Given the description of an element on the screen output the (x, y) to click on. 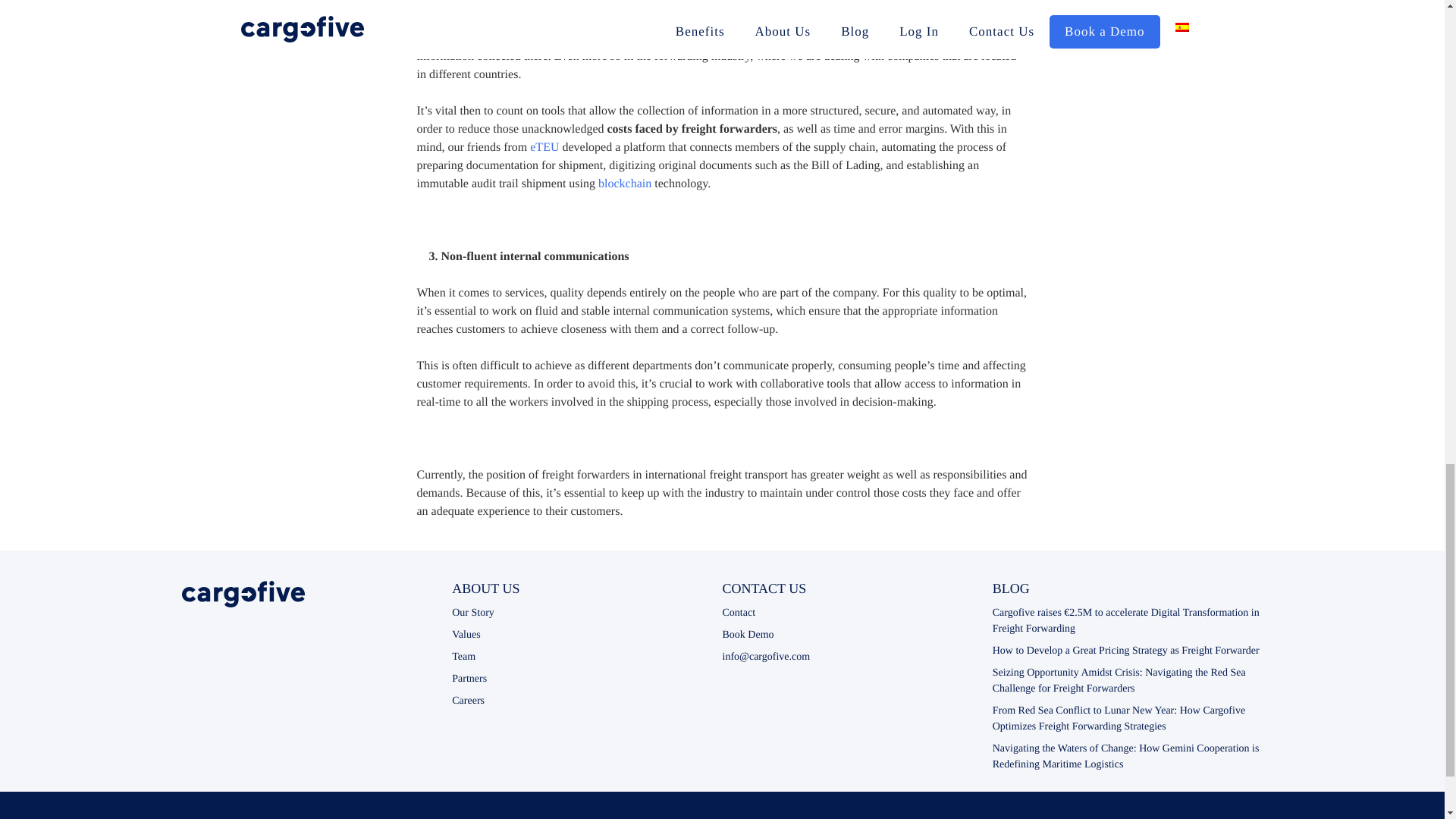
Values (465, 634)
eTEU (544, 146)
Team (463, 656)
Our Story (473, 613)
blockchain (624, 183)
Partners (468, 678)
